Given the description of an element on the screen output the (x, y) to click on. 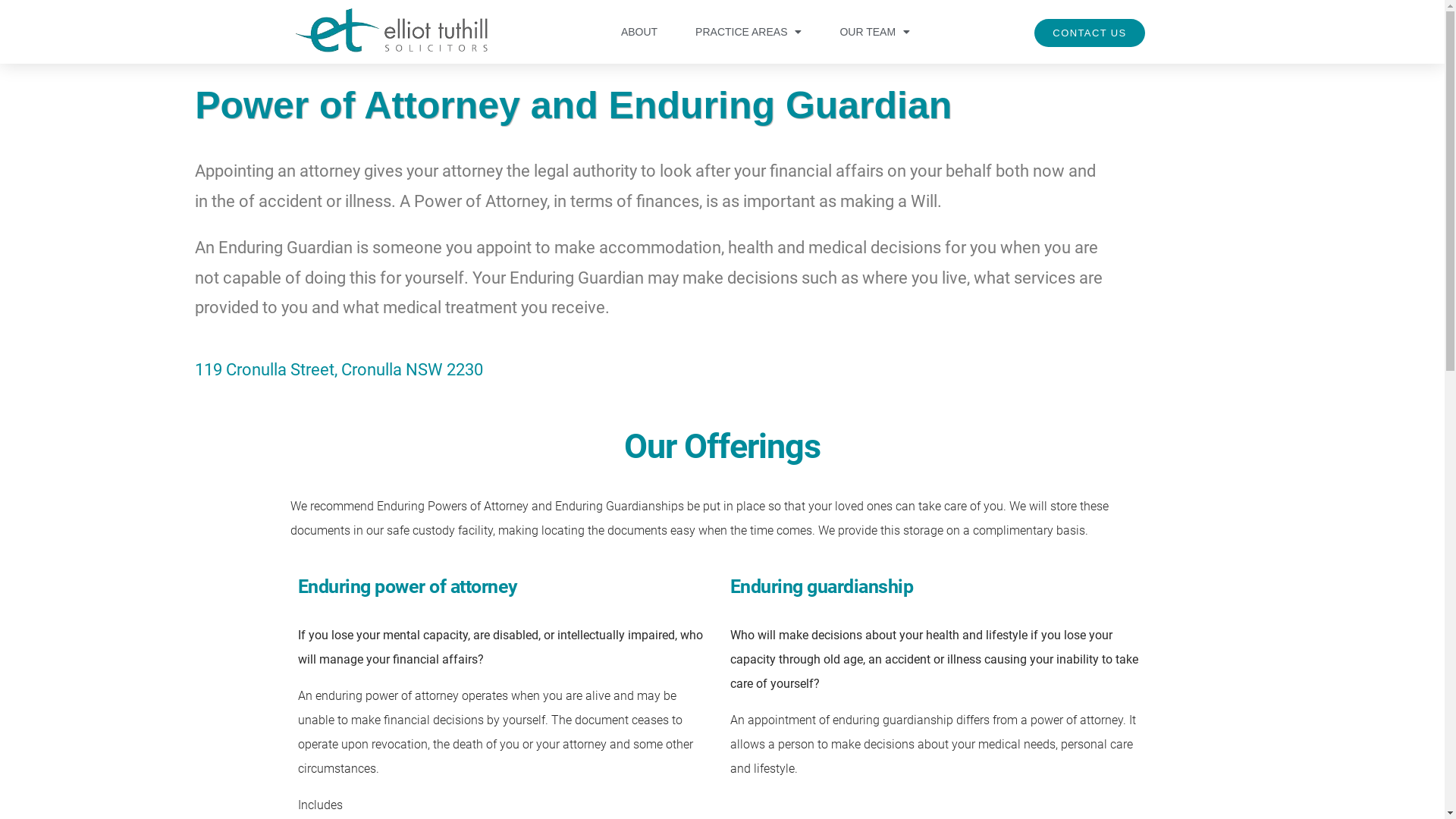
PRACTICE AREAS Element type: text (748, 31)
OUR TEAM Element type: text (874, 31)
ABOUT Element type: text (638, 31)
CONTACT US Element type: text (1089, 32)
